Given the description of an element on the screen output the (x, y) to click on. 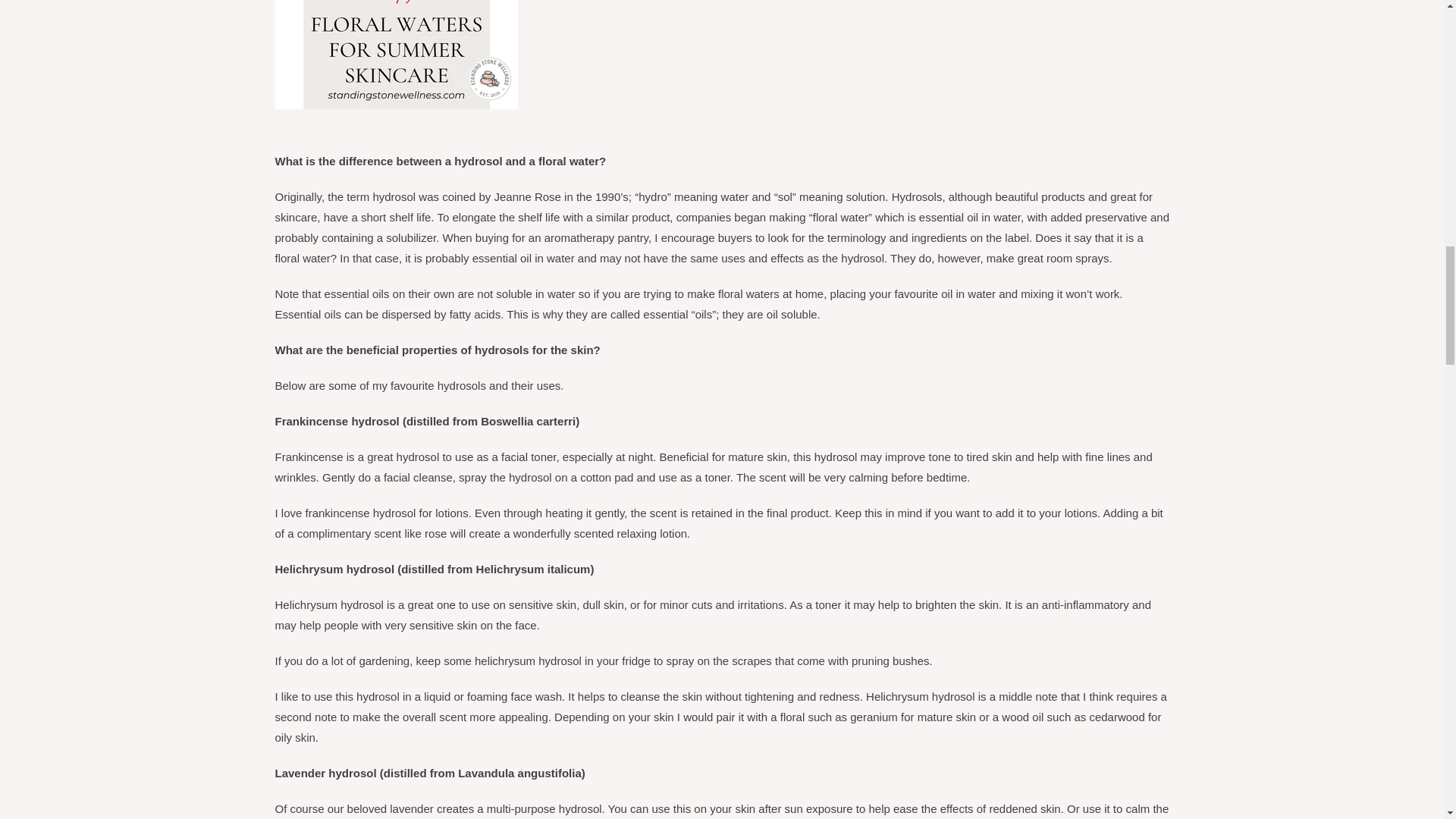
Floral Waters For Summer Skincare Pinterest  (395, 104)
